Given the description of an element on the screen output the (x, y) to click on. 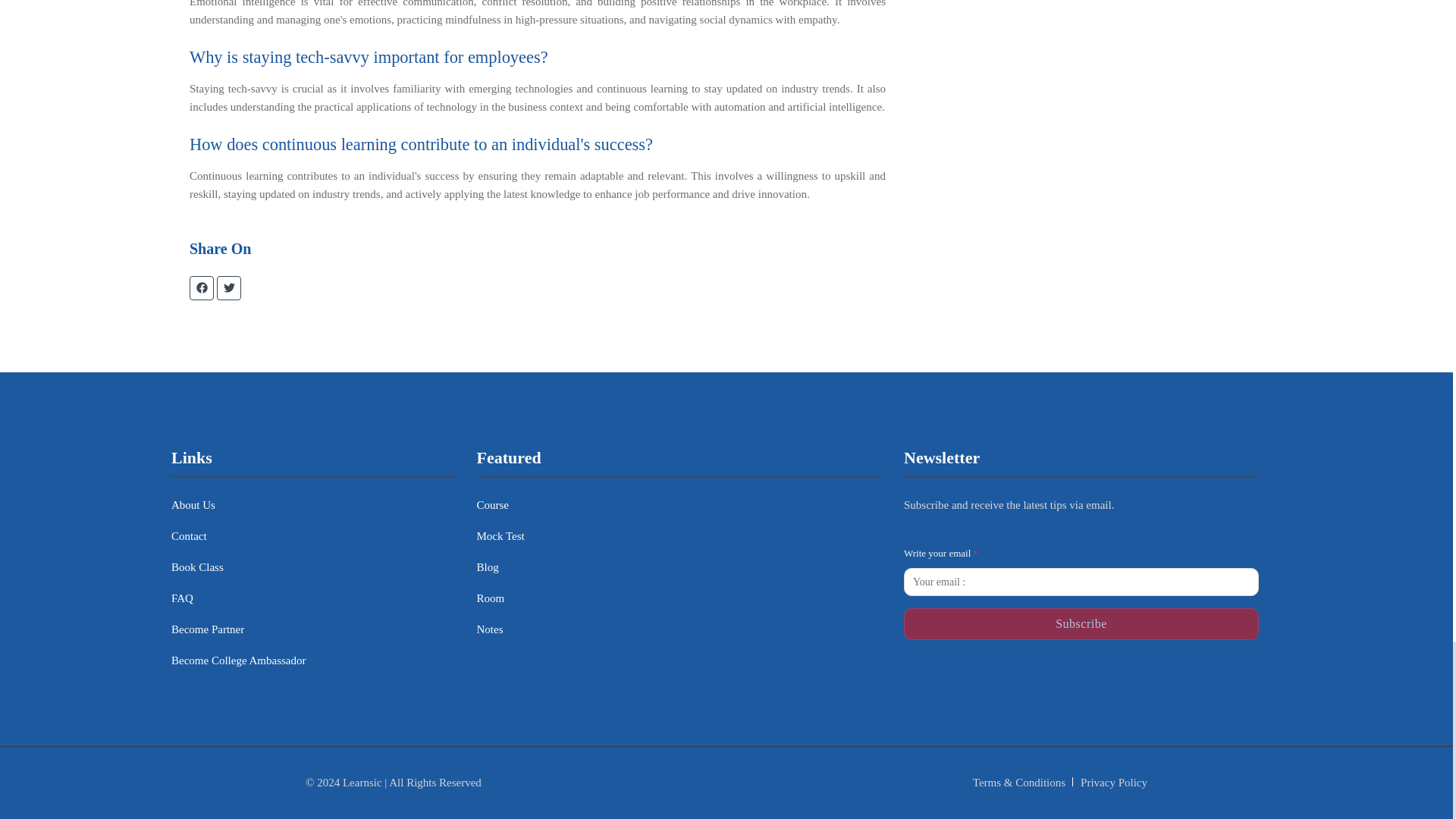
Instagram (1036, 676)
Become College Ambassador (238, 660)
Subscribe (1081, 623)
TikTok (1124, 676)
Facebook (949, 676)
About Us (193, 505)
YouTube (1213, 676)
Course (492, 505)
Book Class (197, 567)
Become Partner (207, 629)
Room (489, 598)
Subscribe (1081, 623)
Privacy Policy (1113, 782)
Mock Test (500, 536)
Blog (486, 567)
